Given the description of an element on the screen output the (x, y) to click on. 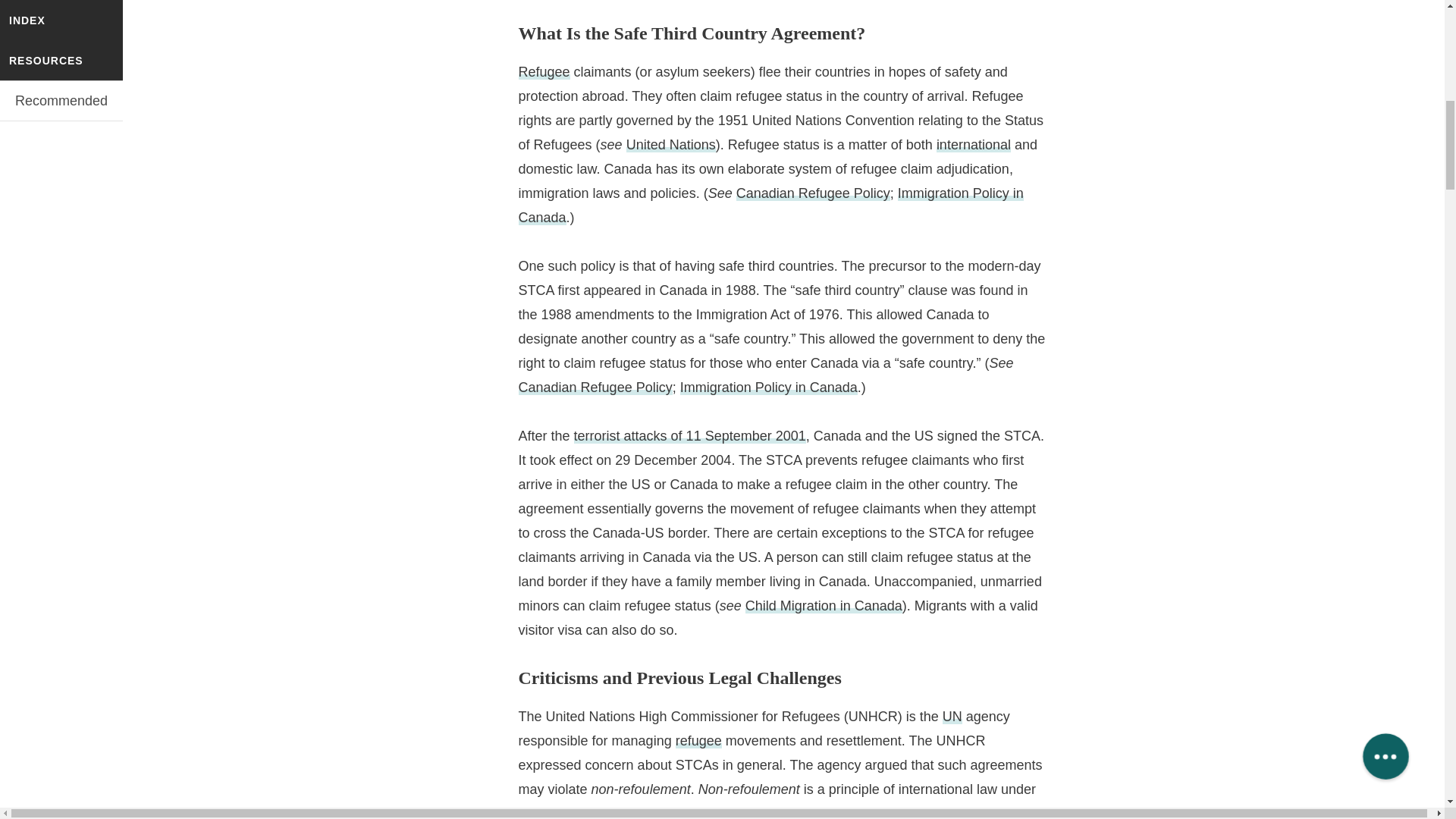
Canadian Border (575, 3)
